Given the description of an element on the screen output the (x, y) to click on. 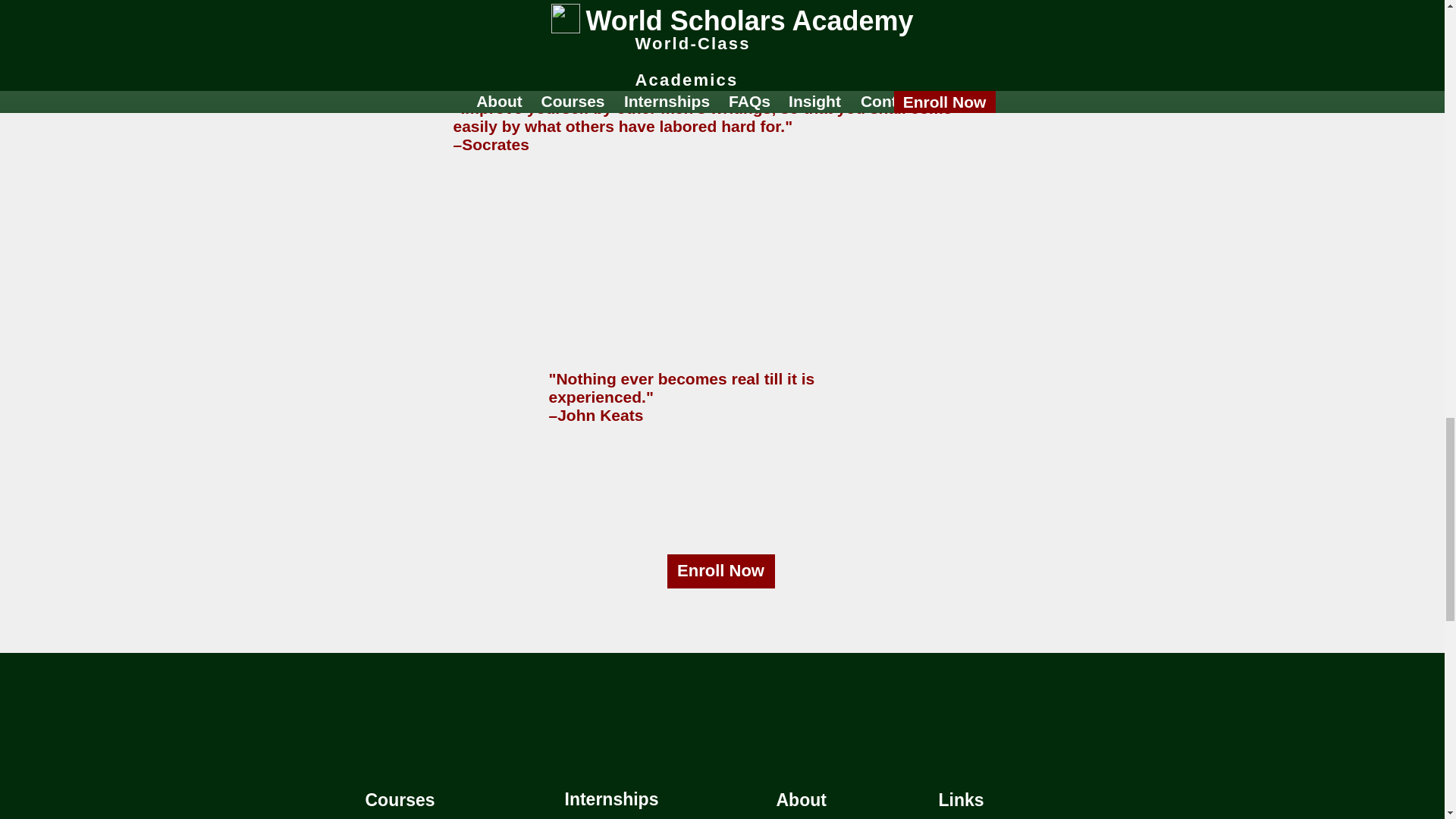
Courses for Ages 15-18 (440, 817)
Internships (611, 799)
Enroll Now (720, 571)
Course (395, 799)
